Given the description of an element on the screen output the (x, y) to click on. 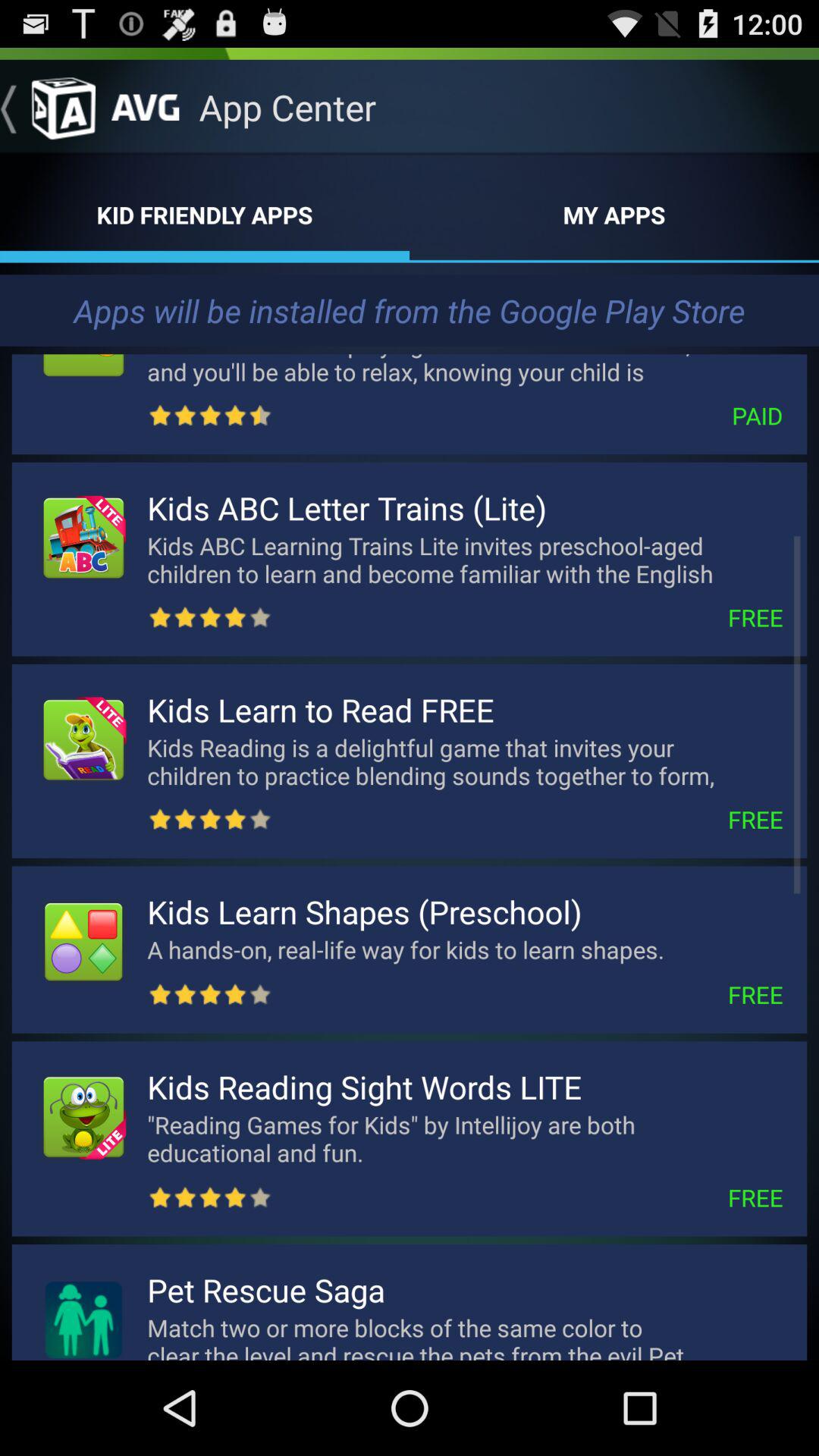
scroll until reading games for app (465, 1138)
